Given the description of an element on the screen output the (x, y) to click on. 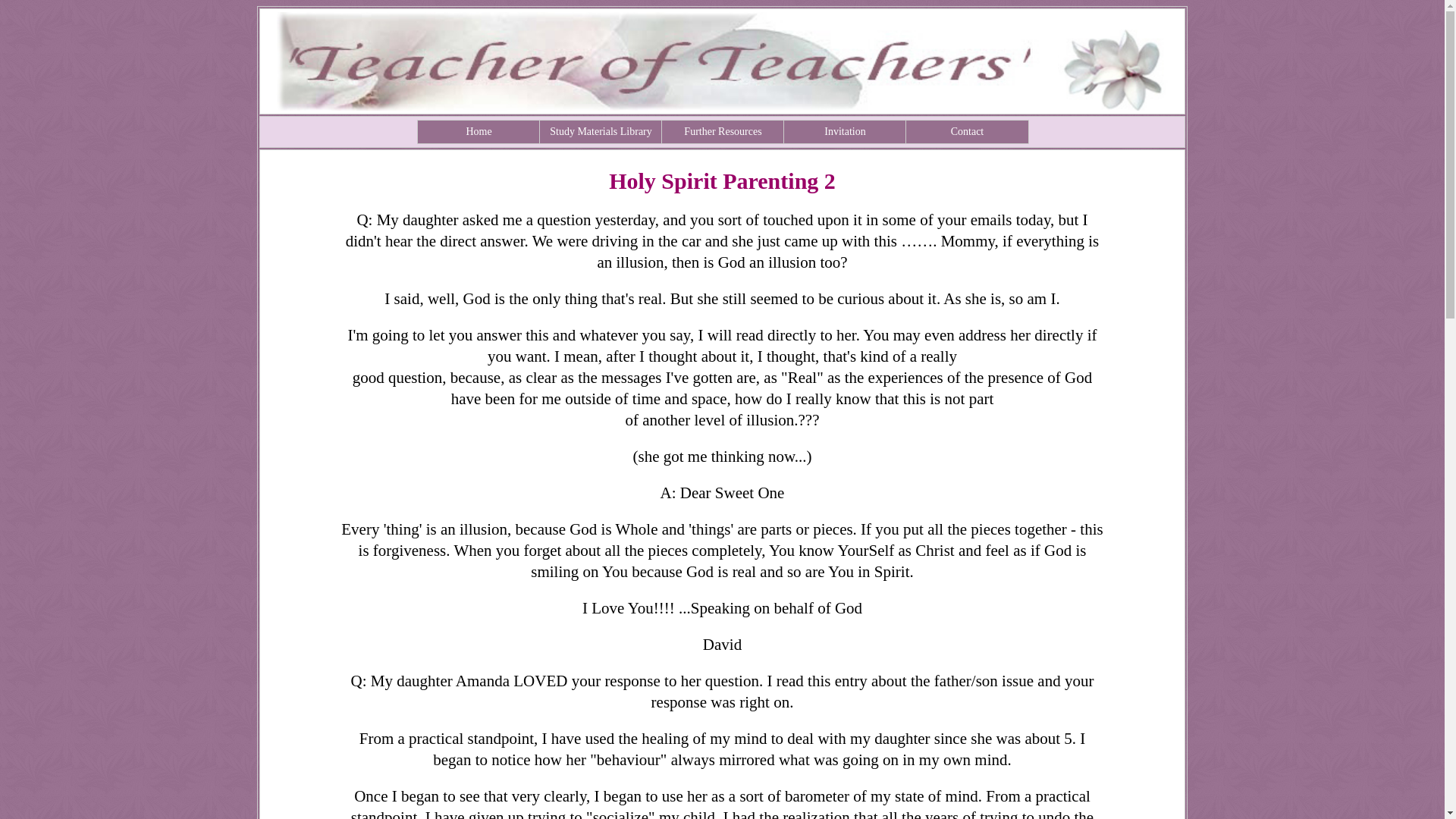
Further Resources (723, 131)
Study Materials Library (601, 131)
Home (478, 131)
